Given the description of an element on the screen output the (x, y) to click on. 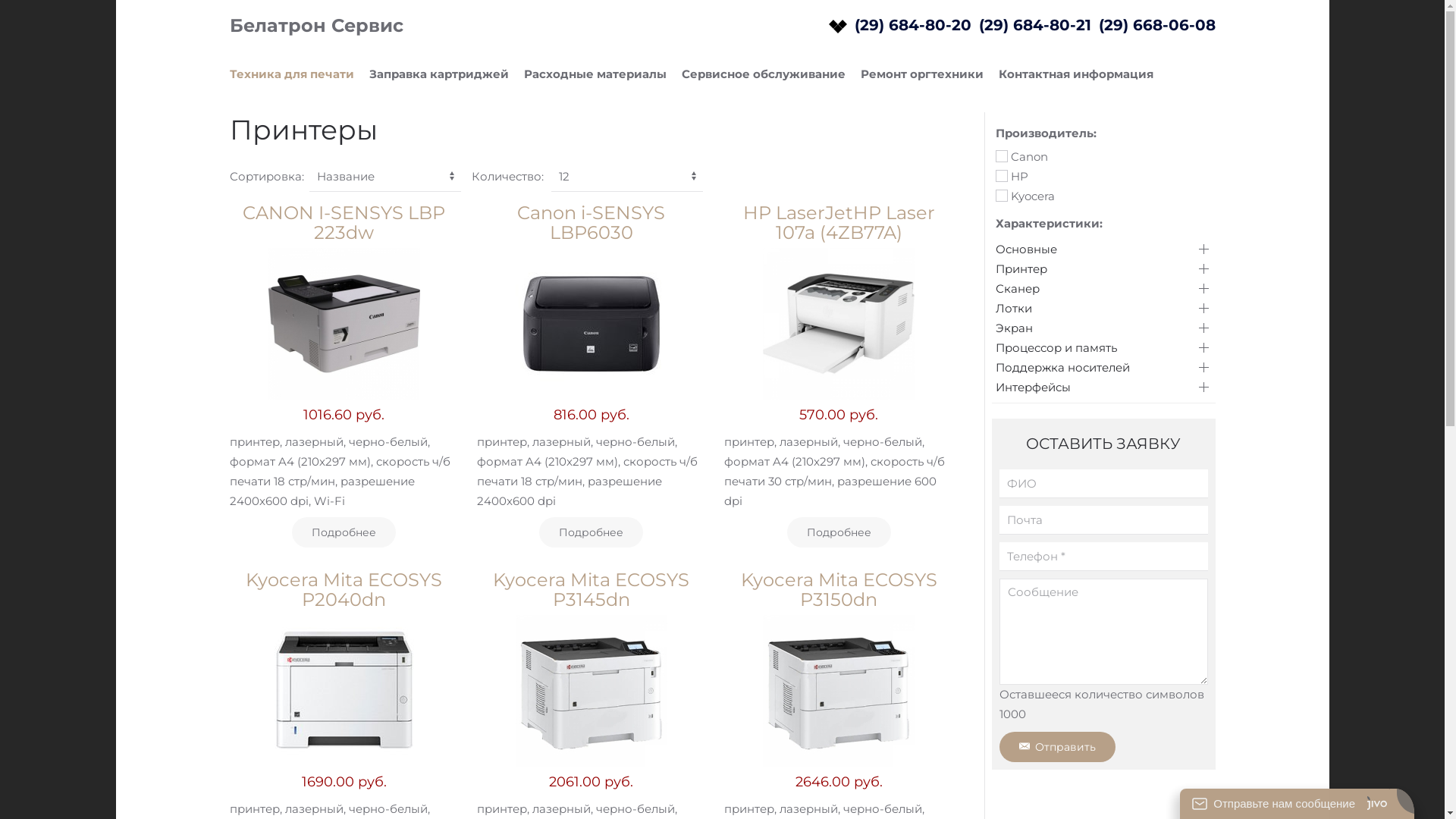
Kyocera Mita ECOSYS P2040dn Element type: hover (344, 690)
CANON I-SENSYS LBP 223dw Element type: hover (344, 323)
Canon i-SENSYS LBP6030 Element type: hover (591, 323)
CANON I-SENSYS LBP 223dw Element type: text (343, 222)
Kyocera Mita ECOSYS P3150dn Element type: hover (838, 690)
(29) 684-80-20 Element type: text (911, 24)
Kyocera Mita ECOSYS P3150dn Element type: text (838, 589)
2 Element type: text (1000, 175)
Kyocera Mita ECOSYS P2040dn Element type: text (343, 589)
Kyocera Mita ECOSYS P3145dn Element type: text (590, 589)
1 Element type: text (1000, 156)
HP LaserJetHP Laser 107a (4ZB77A) Element type: hover (838, 323)
Canon i-SENSYS LBP6030 Element type: text (591, 222)
(29) 684-80-21 Element type: text (1034, 24)
(29) 668-06-08 Element type: text (1156, 24)
Kyocera Mita ECOSYS P3145dn Element type: hover (591, 690)
HP LaserJetHP Laser 107a (4ZB77A) Element type: text (839, 222)
3 Element type: text (1000, 195)
